Given the description of an element on the screen output the (x, y) to click on. 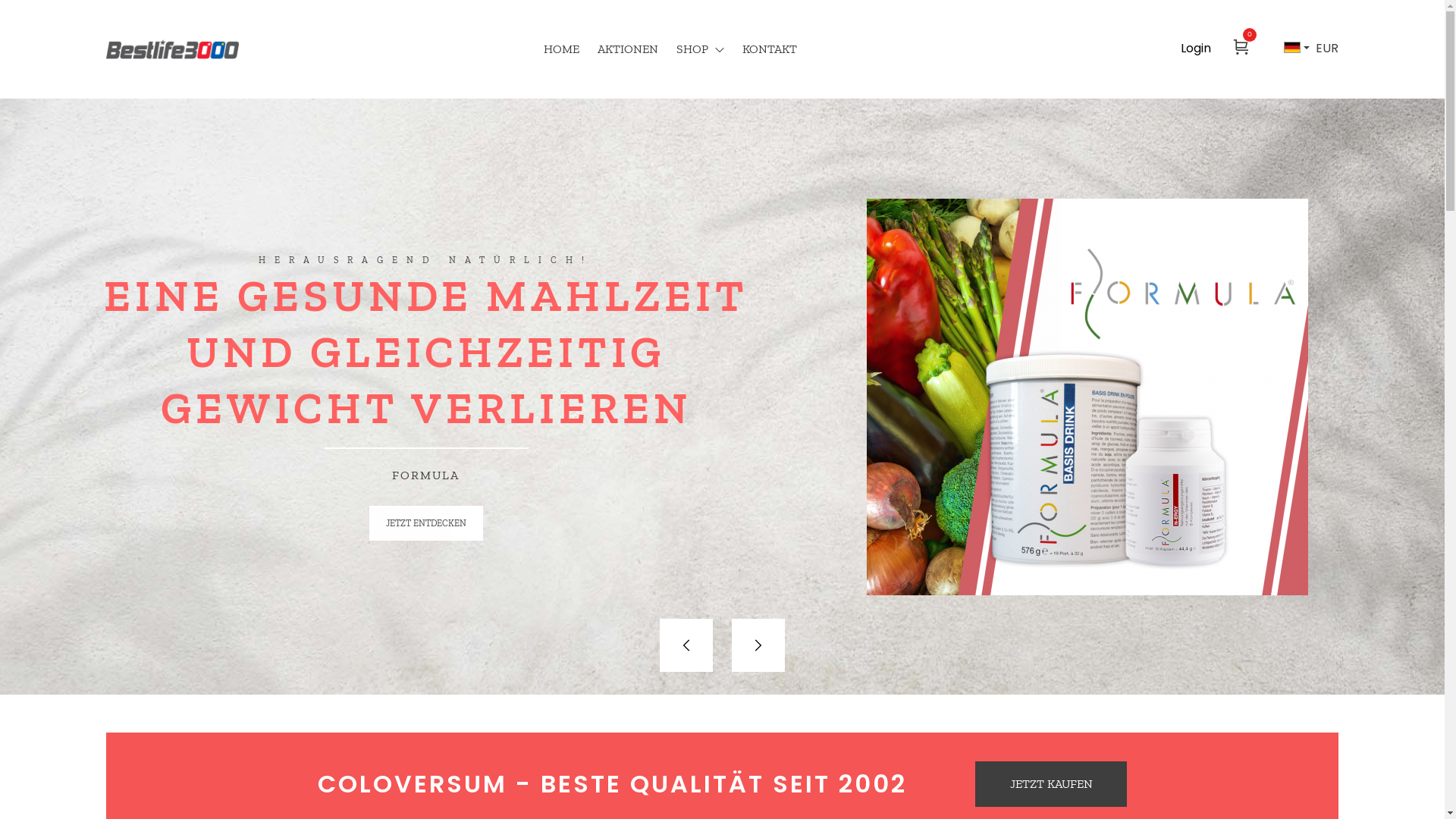
JETZT KAUFEN Element type: text (1050, 783)
HOME Element type: text (561, 49)
0 Element type: text (1240, 49)
SHOP Element type: text (700, 49)
KONTAKT Element type: text (769, 49)
Login Element type: text (1195, 48)
AKTIONEN Element type: text (627, 49)
